Given the description of an element on the screen output the (x, y) to click on. 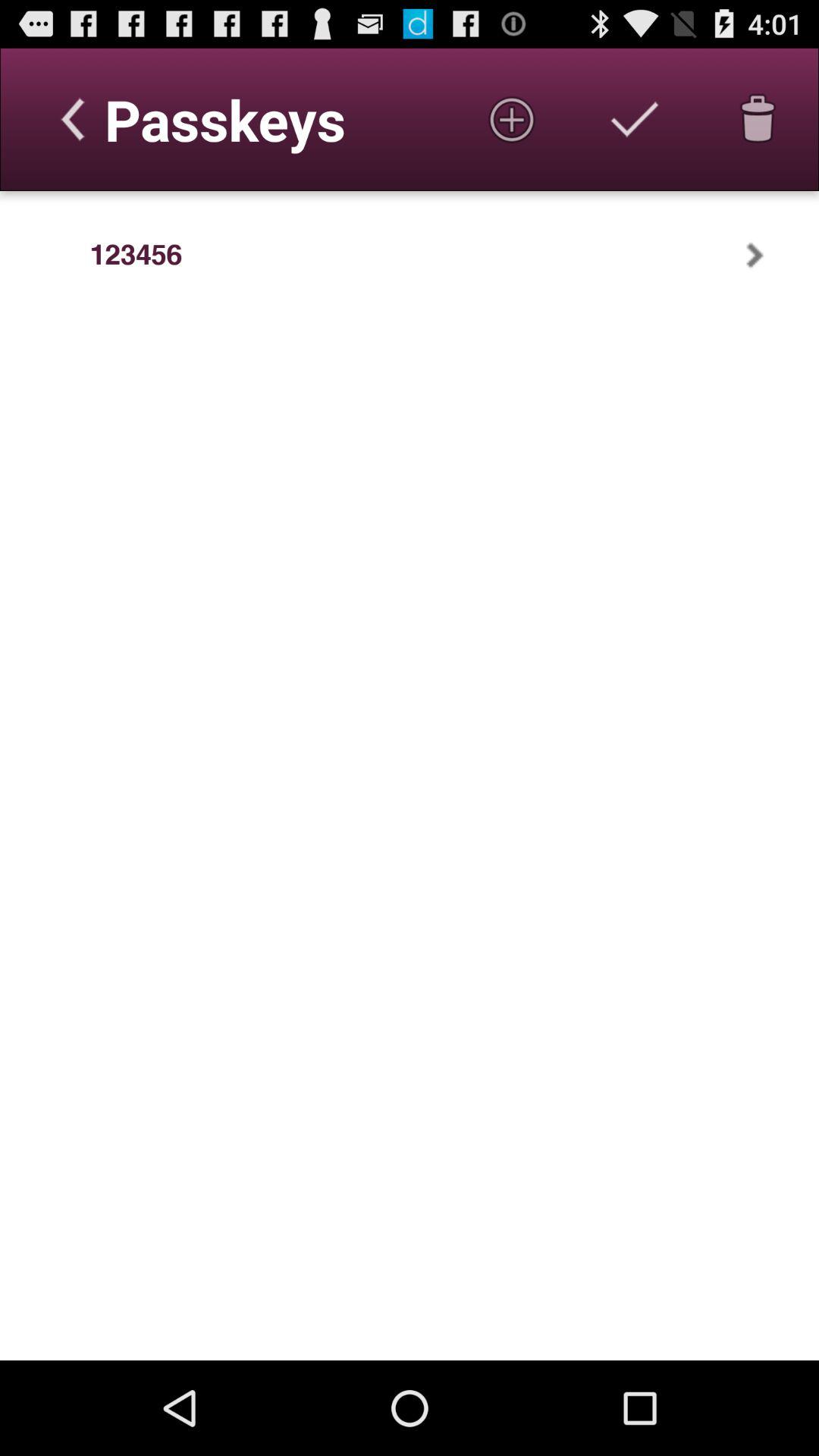
delete the data (757, 119)
